Given the description of an element on the screen output the (x, y) to click on. 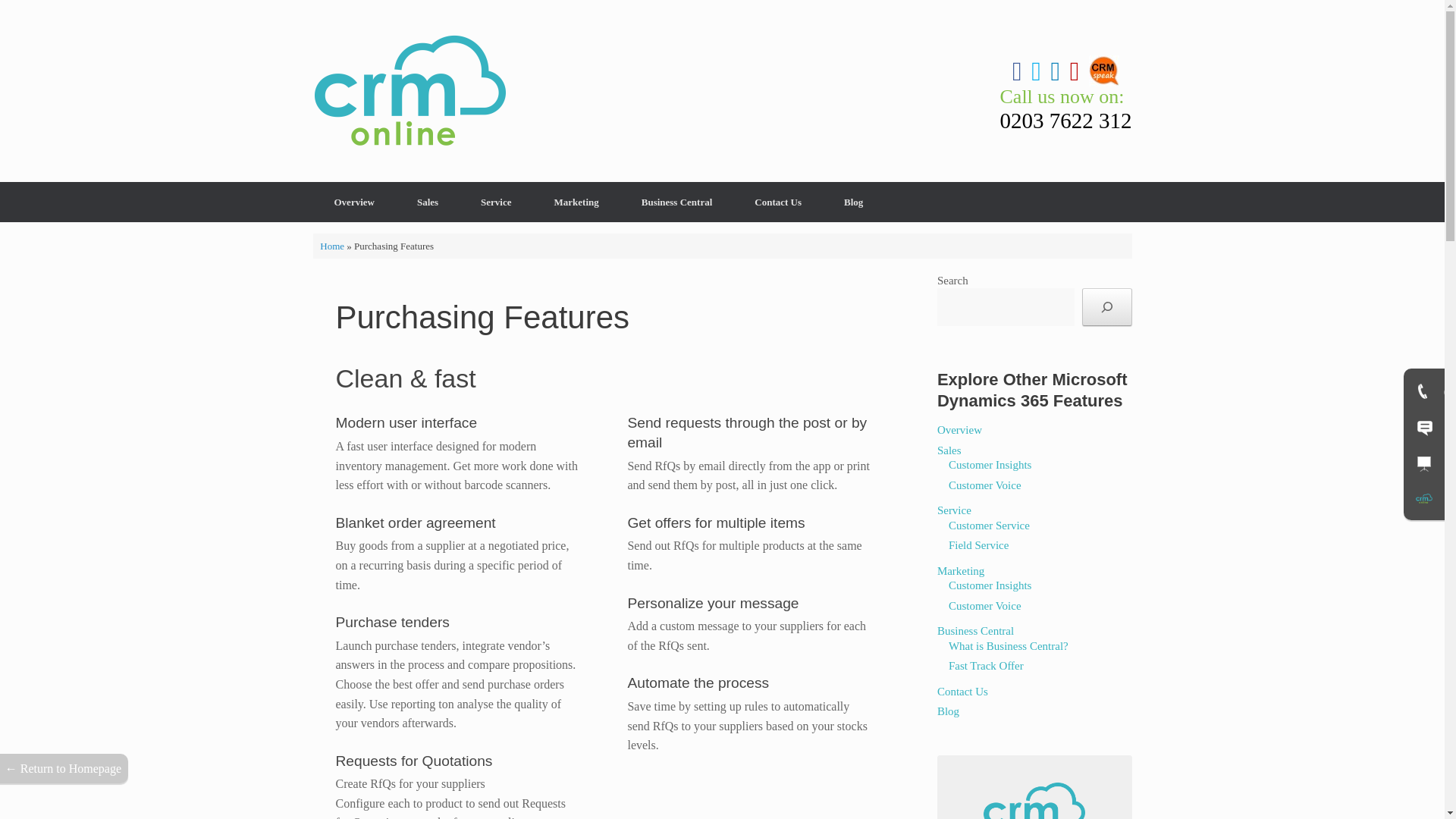
Blog (852, 201)
Customer Insights (990, 464)
Overview (959, 429)
Microsoft Dynamics (409, 91)
Customer Voice (985, 485)
Marketing (576, 201)
Overview (353, 201)
Customer Service (989, 524)
Home (331, 244)
Sales (948, 450)
